Given the description of an element on the screen output the (x, y) to click on. 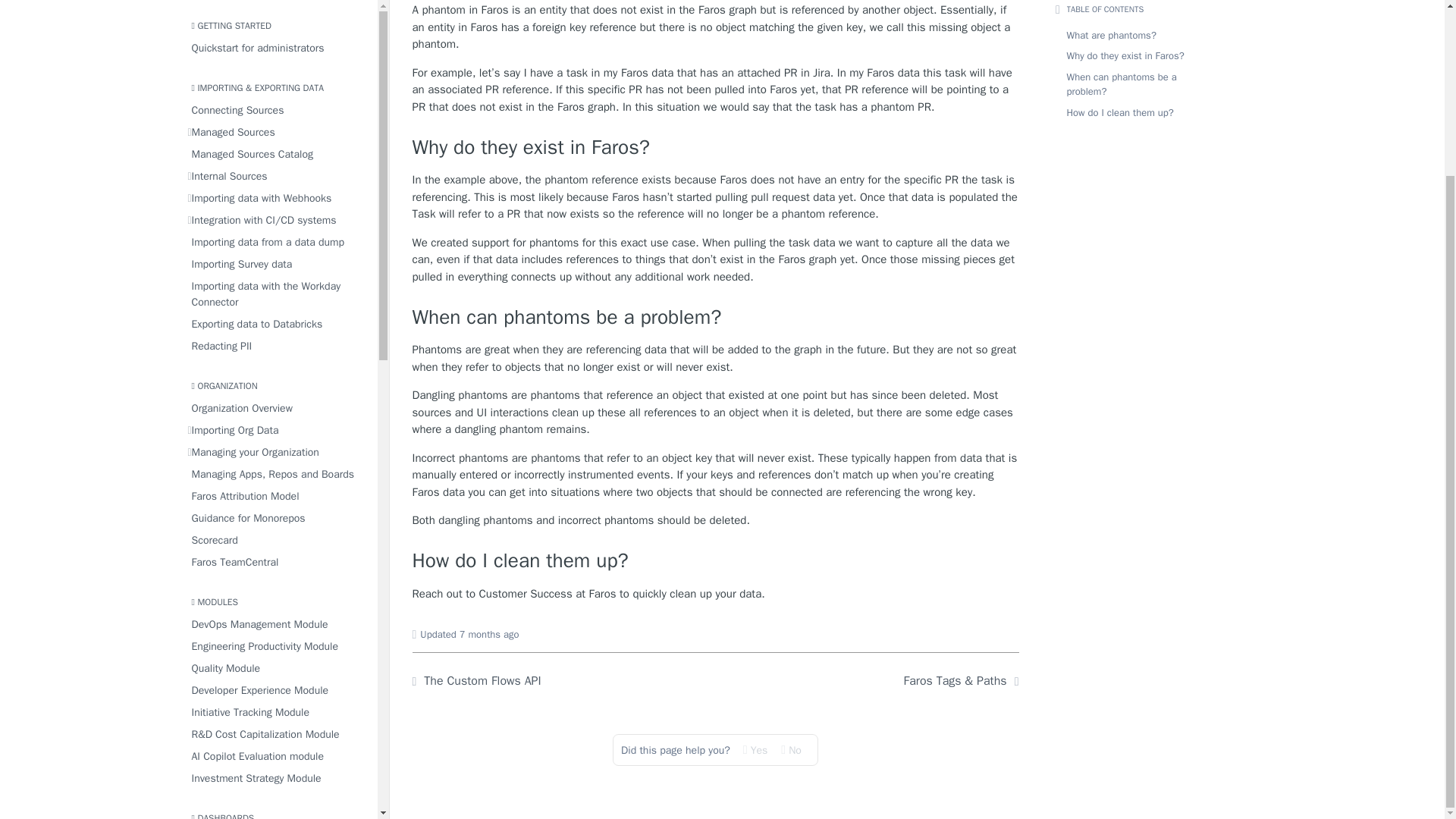
Importing data with Webhooks (277, 66)
Internal Sources (277, 45)
Why do they exist in Faros? (715, 147)
Managed Sources Catalog (277, 23)
How do I clean them up? (715, 561)
Managed Sources (277, 5)
When can phantoms be a problem? (715, 317)
